Given the description of an element on the screen output the (x, y) to click on. 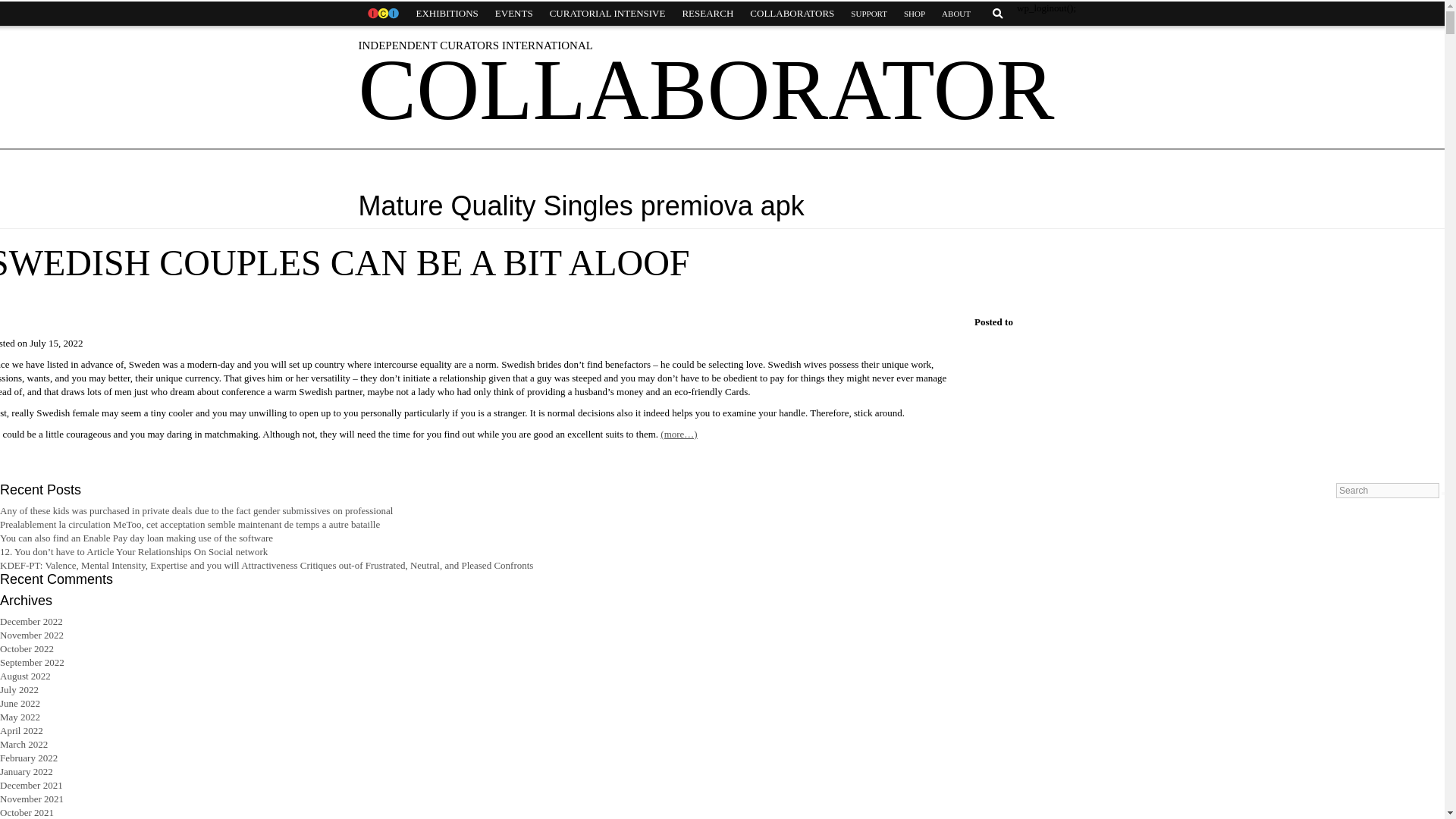
CURATORIAL INTENSIVE (607, 13)
EVENTS (513, 13)
RESEARCH (706, 13)
HOME (382, 13)
EXHIBITIONS (446, 13)
COLLABORATORS (792, 13)
